Given the description of an element on the screen output the (x, y) to click on. 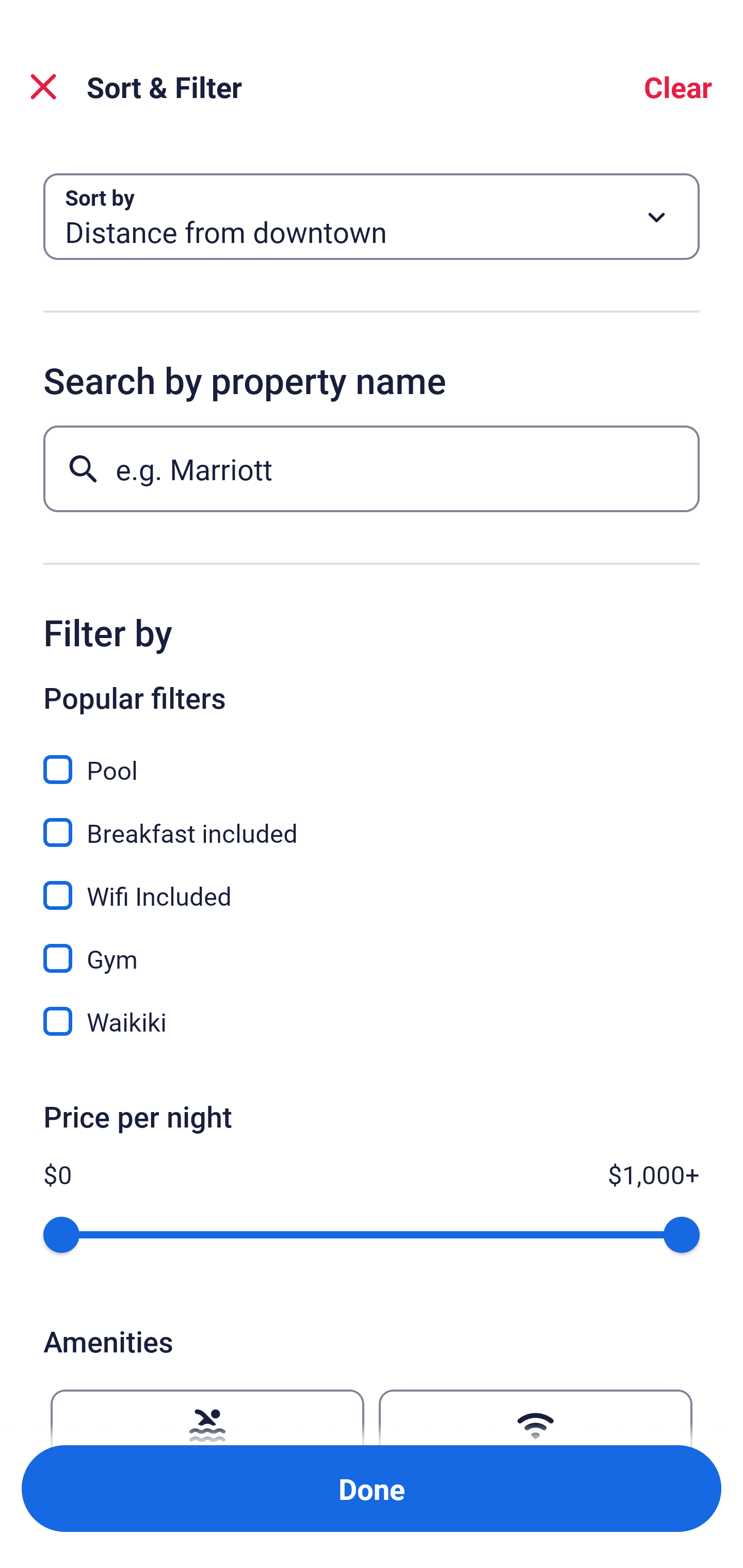
Close Sort and Filter (43, 86)
Clear (677, 86)
Sort by Button Distance from downtown (371, 217)
e.g. Marriott Button (371, 468)
Pool, Pool (371, 757)
Breakfast included, Breakfast included (371, 821)
Wifi Included, Wifi Included (371, 883)
Gym, Gym (371, 946)
Waikiki, Waikiki (371, 1021)
Apply and close Sort and Filter Done (371, 1488)
